Given the description of an element on the screen output the (x, y) to click on. 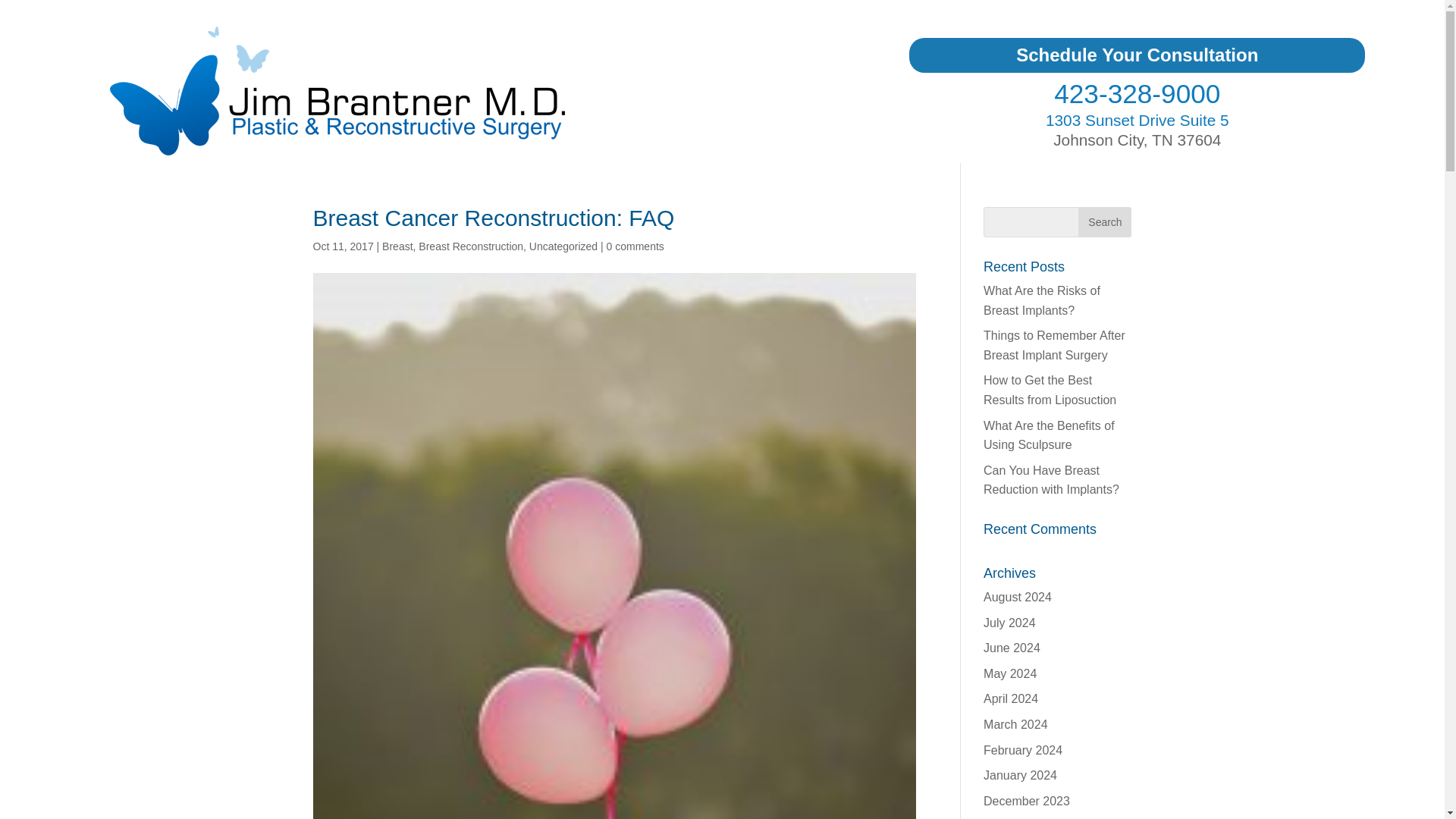
Search (1104, 222)
Schedule Your Consultation (1136, 55)
423-328-9000 (1137, 93)
1303 Sunset Drive Suite 5 (1136, 119)
